Given the description of an element on the screen output the (x, y) to click on. 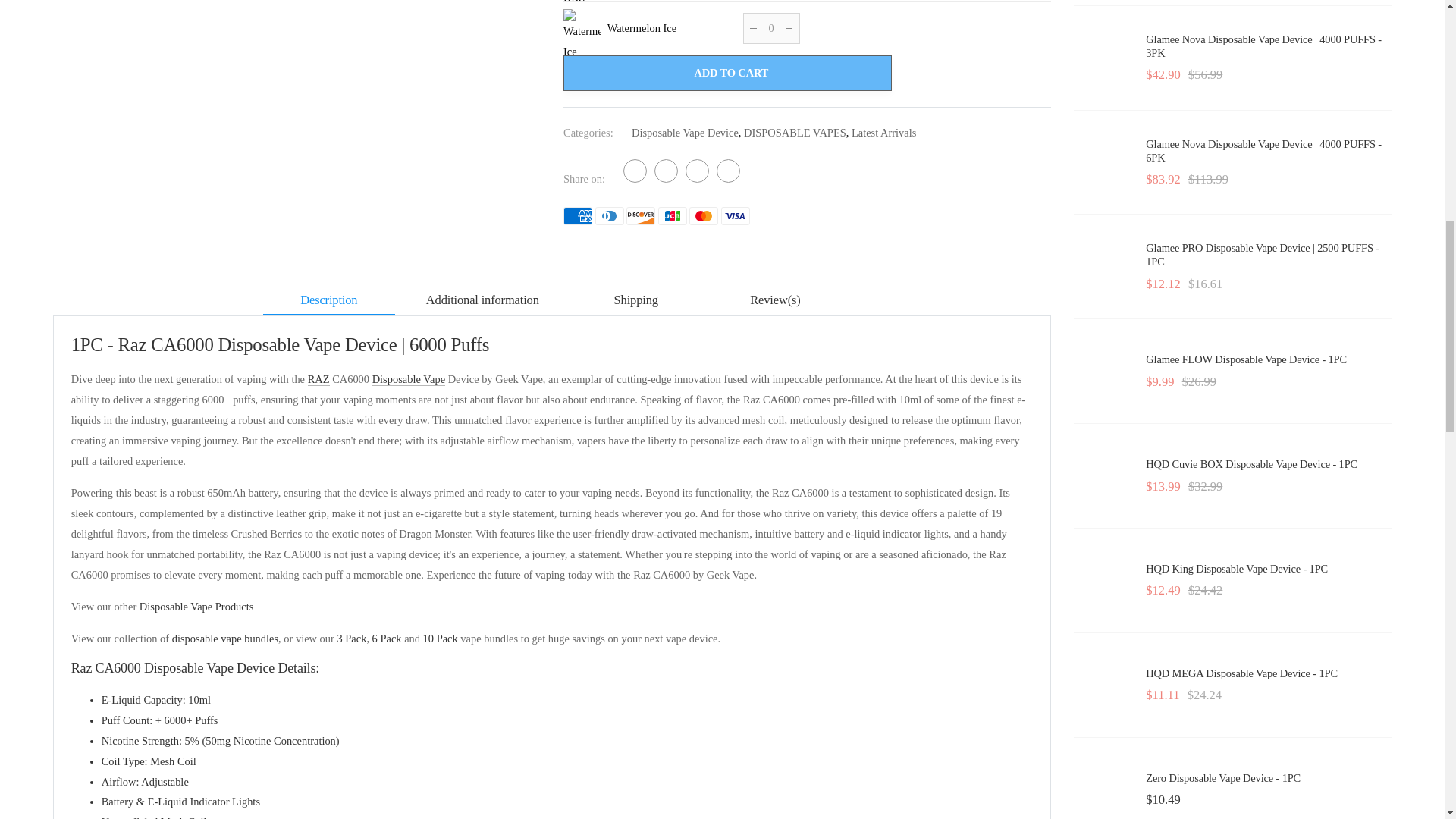
Discover (640, 216)
Visa (734, 216)
0 (770, 28)
American Express (577, 216)
JCB (672, 216)
Diners Club (609, 216)
Mastercard (704, 216)
